Given the description of an element on the screen output the (x, y) to click on. 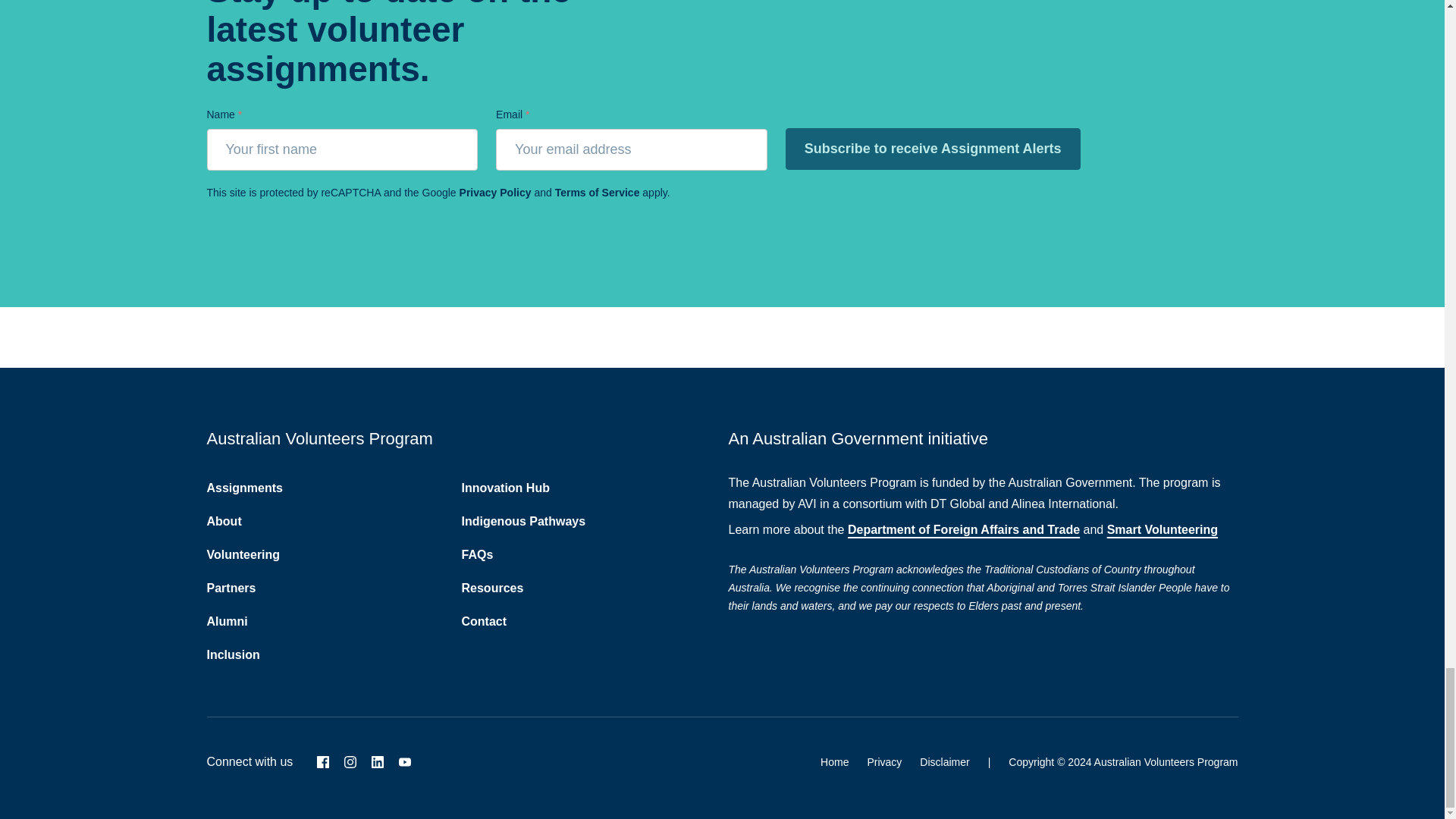
Terms of Service (597, 192)
About (223, 521)
Partners (231, 587)
Subscribe to receive Assignment Alerts (933, 148)
Privacy Policy (495, 192)
Assignments (244, 487)
Volunteering (242, 554)
